Given the description of an element on the screen output the (x, y) to click on. 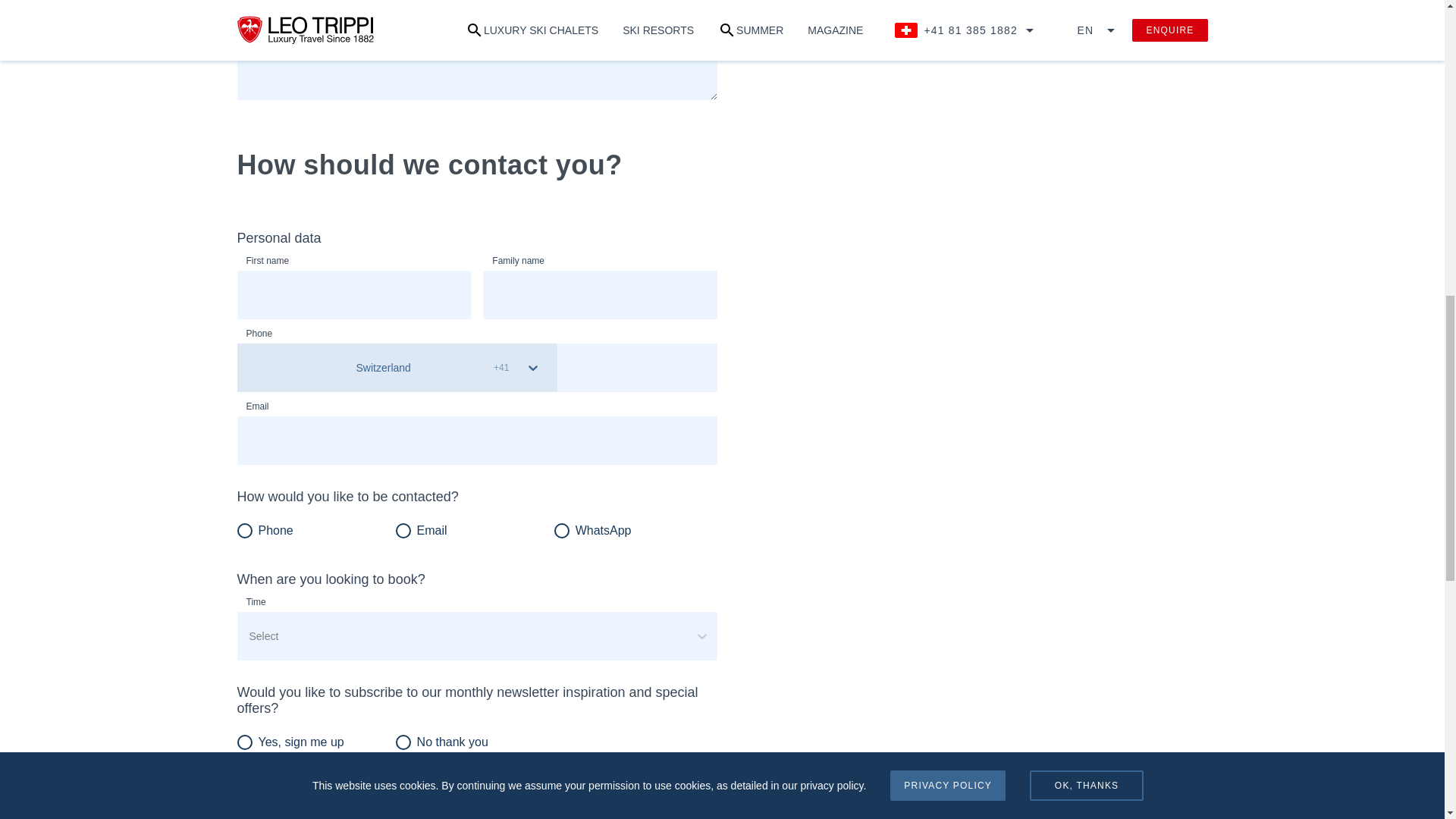
privacy policy (526, 774)
LEARN MORE (1123, 2)
SUBMIT (311, 813)
